Given the description of an element on the screen output the (x, y) to click on. 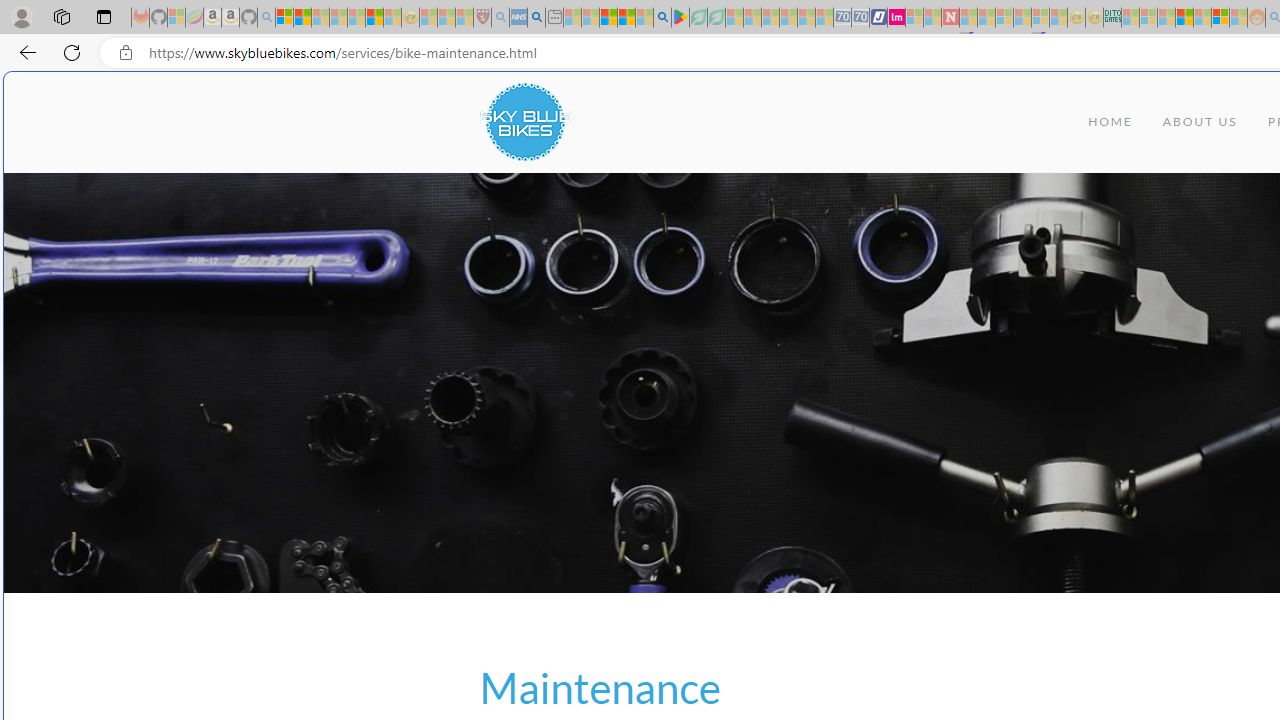
HOME (1110, 122)
Jobs - lastminute.com Investor Portal (896, 17)
